Given the description of an element on the screen output the (x, y) to click on. 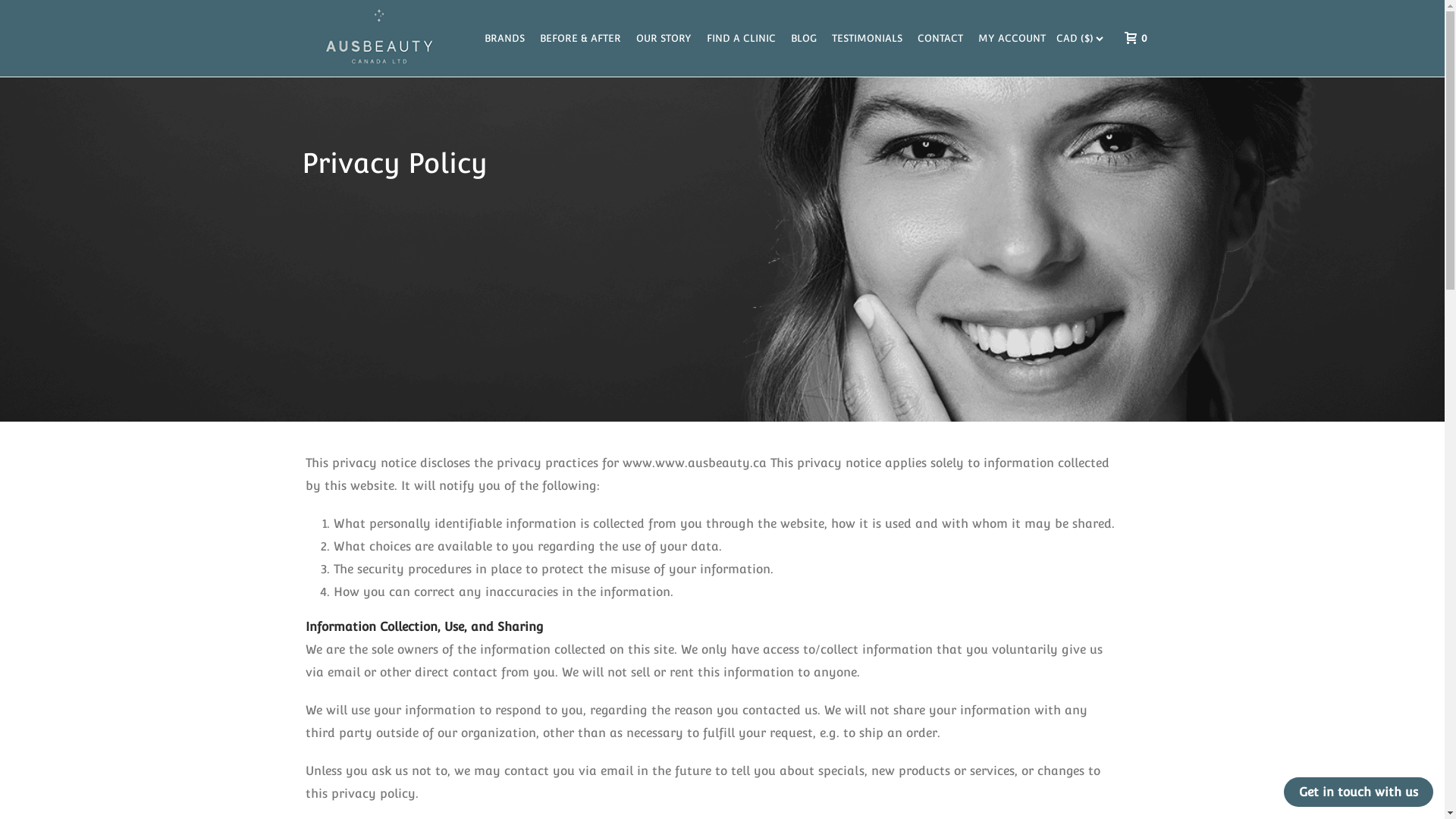
Get in touch with us Element type: text (1358, 791)
BLOG Element type: text (802, 38)
CONTACT Element type: text (940, 38)
MY ACCOUNT Element type: text (1011, 38)
FIND A CLINIC Element type: text (741, 38)
0 Element type: text (1131, 37)
TESTIMONIALS Element type: text (866, 38)
BRANDS Element type: text (503, 38)
OUR STORY Element type: text (662, 38)
BEFORE & AFTER Element type: text (580, 38)
